Given the description of an element on the screen output the (x, y) to click on. 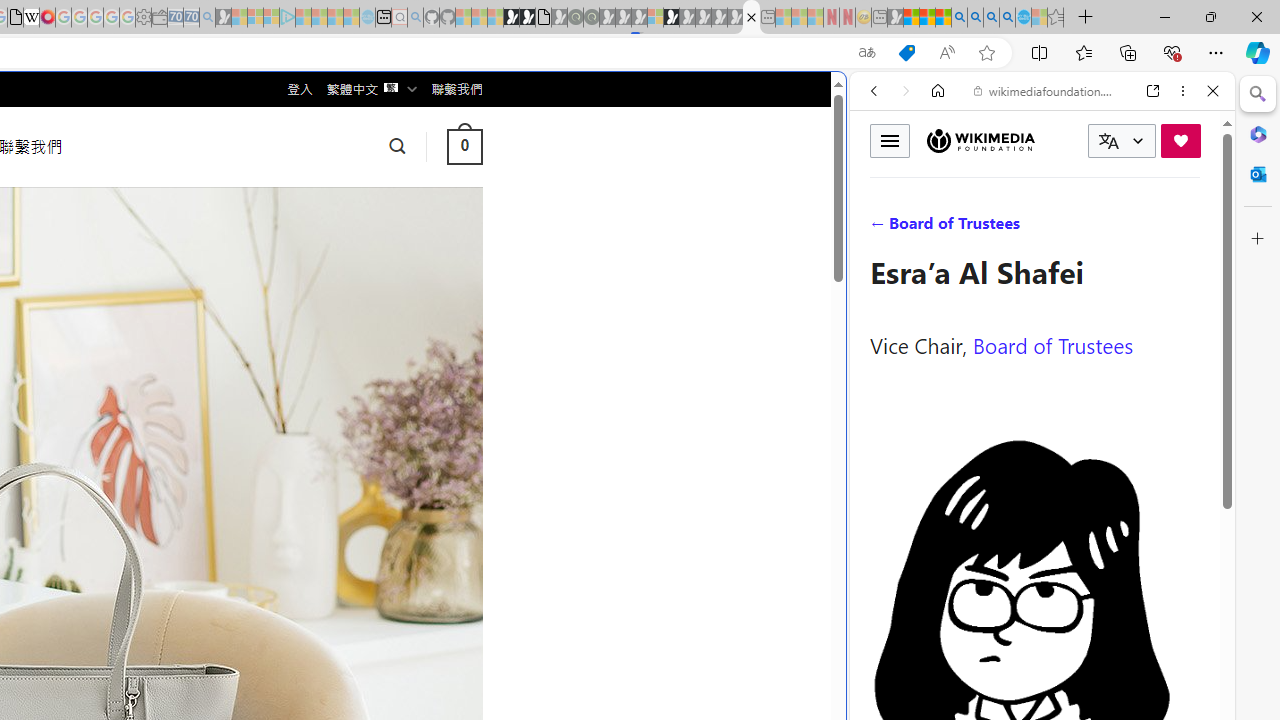
2009 Bing officially replaced Live Search on June 3 - Search (975, 17)
 0  (464, 146)
